Given the description of an element on the screen output the (x, y) to click on. 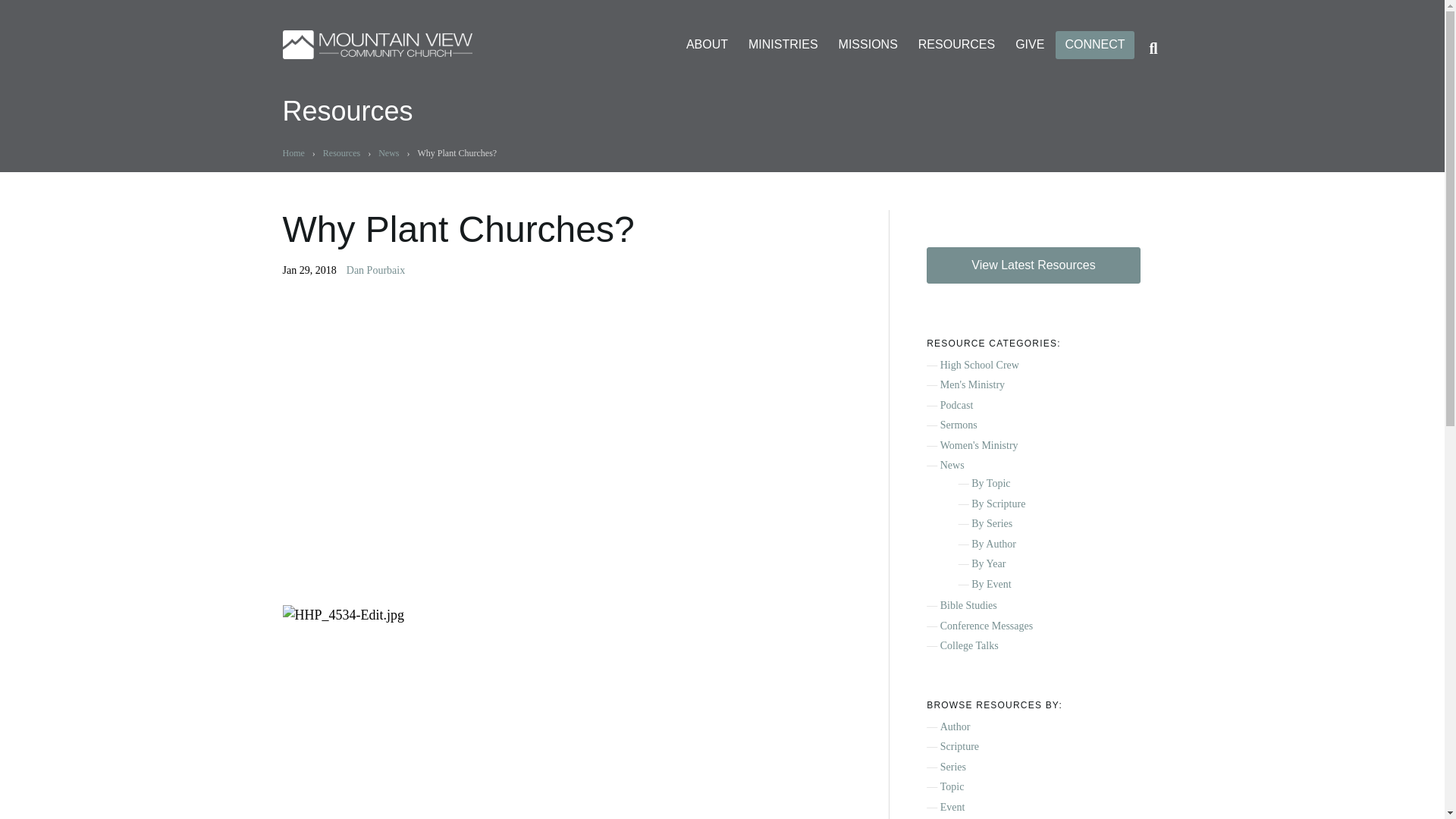
Home (293, 153)
MISSIONS (868, 44)
MINISTRIES (783, 44)
RESOURCES (956, 44)
MVCC logo (376, 44)
CONNECT (1094, 44)
ABOUT (706, 44)
GIVE (1029, 44)
